Given the description of an element on the screen output the (x, y) to click on. 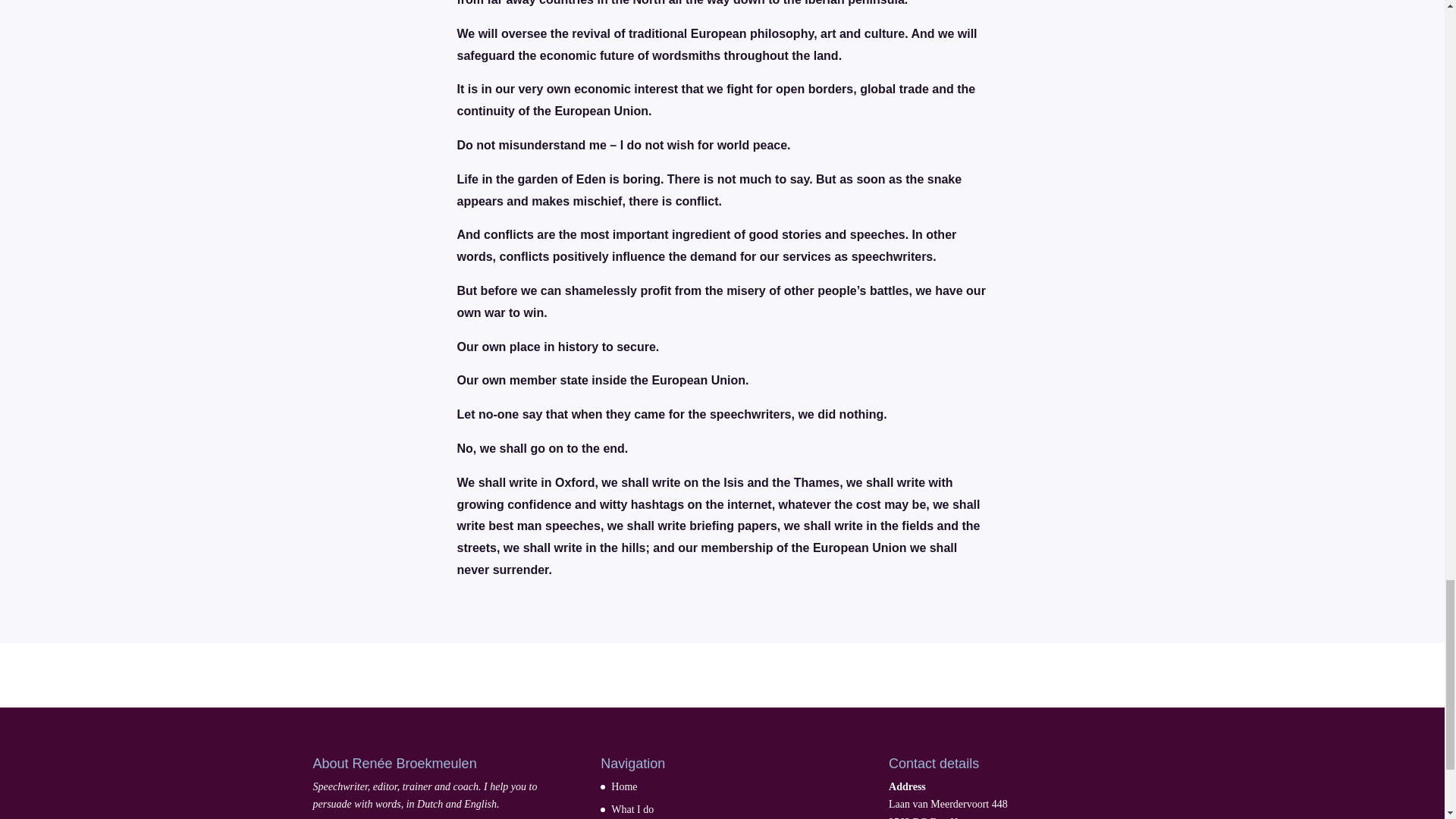
What I do (632, 808)
Home (624, 786)
